Given the description of an element on the screen output the (x, y) to click on. 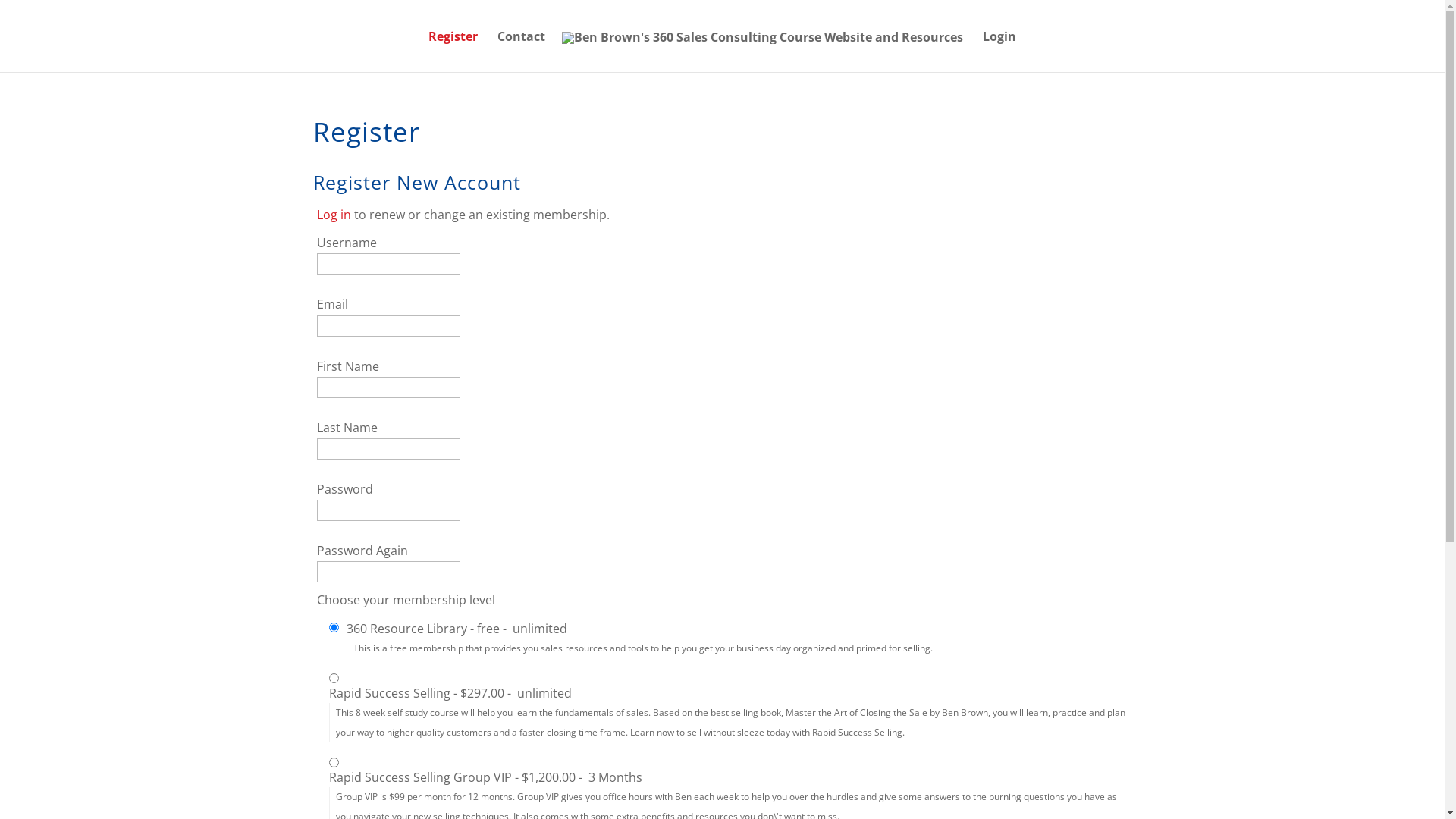
Log in Element type: text (333, 214)
Contact Element type: text (521, 51)
Login Element type: text (999, 51)
Register Element type: text (452, 51)
